Given the description of an element on the screen output the (x, y) to click on. 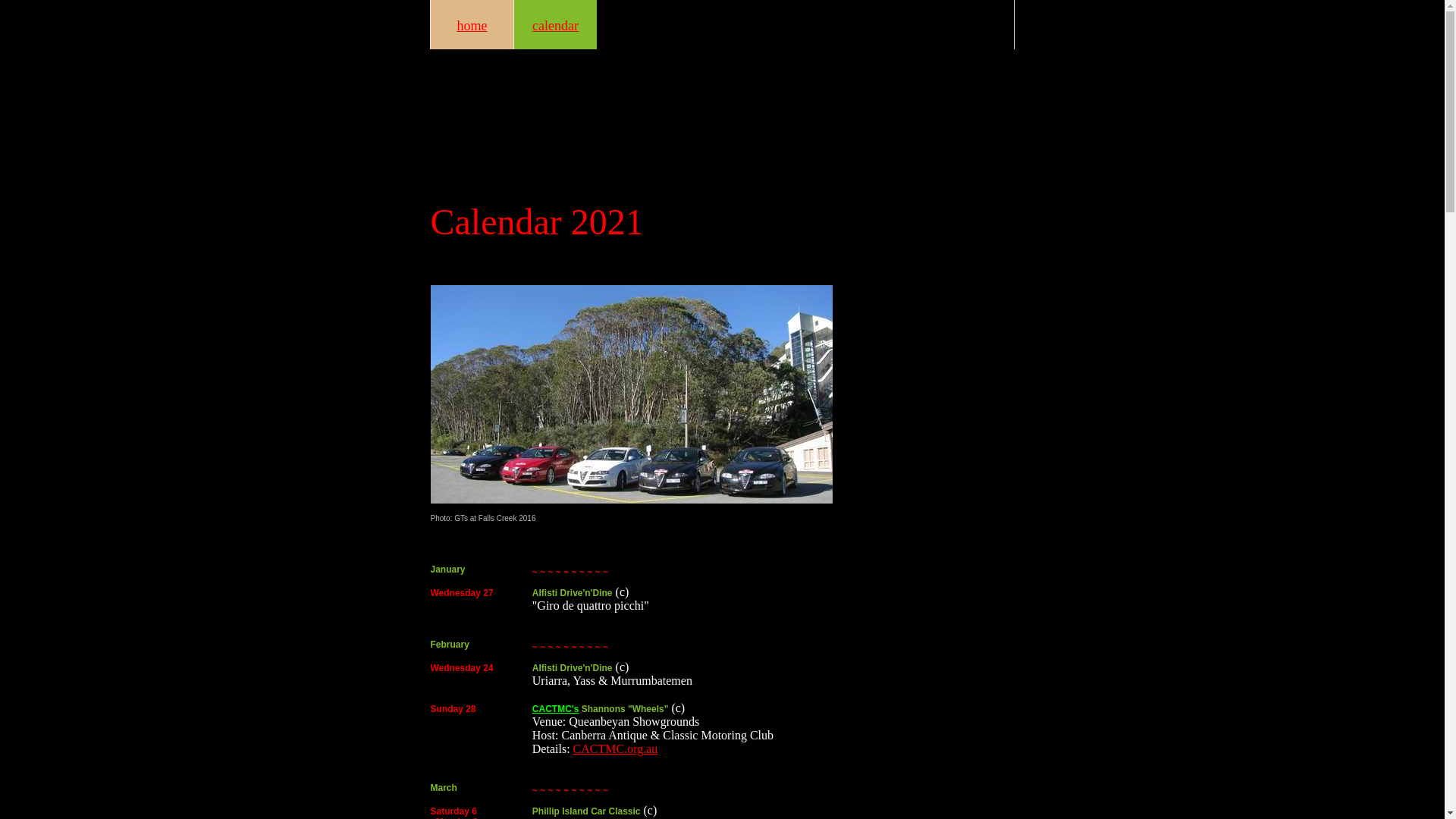
home Element type: text (471, 24)
CACTMC's Element type: text (555, 708)
CACTMC.org.au Element type: text (615, 748)
calendar Element type: text (554, 24)
